Given the description of an element on the screen output the (x, y) to click on. 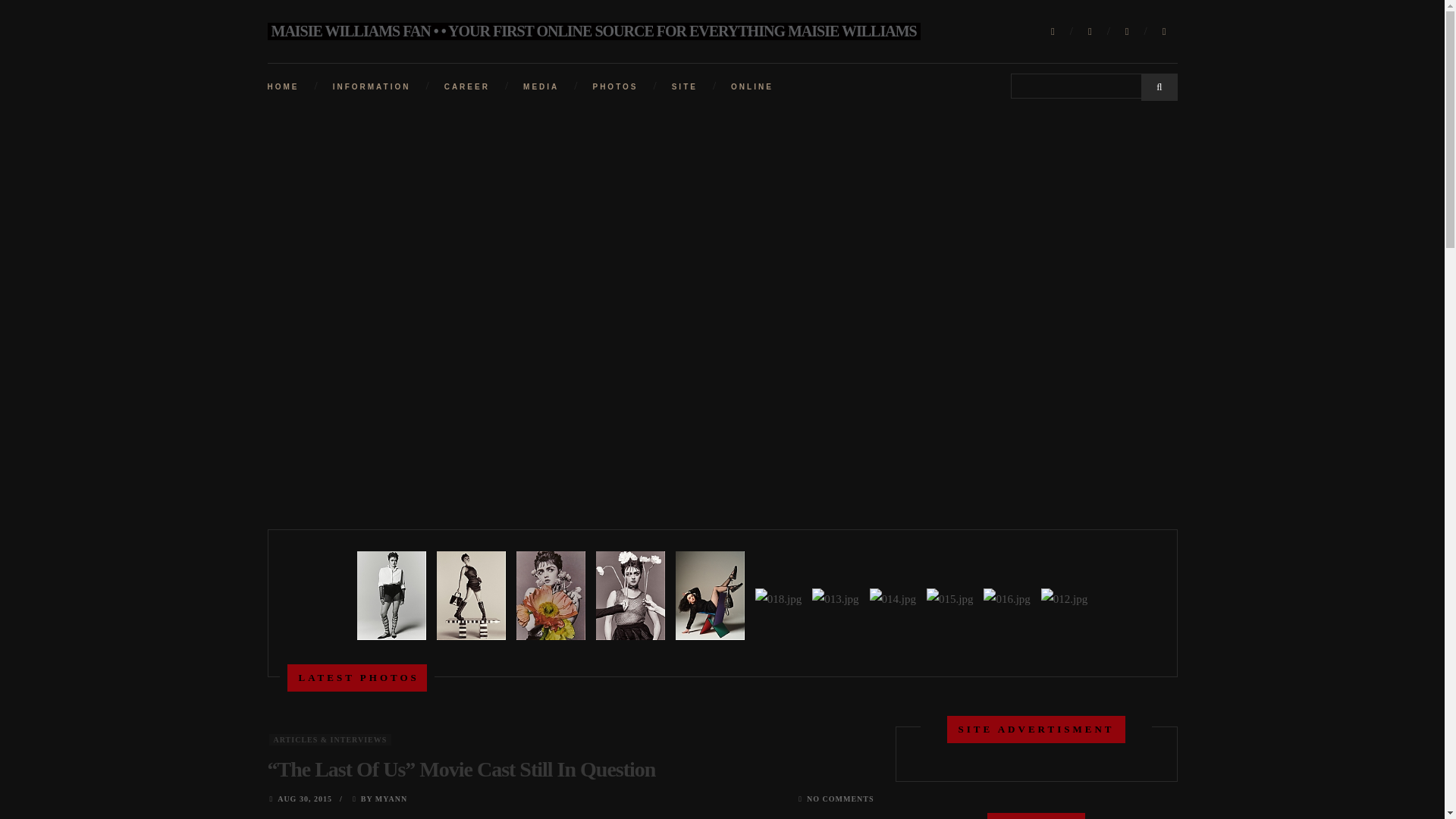
CAREER (466, 86)
015.jpg (949, 599)
INFORMATION (371, 86)
PHOTOS (614, 86)
013.jpg (834, 599)
ONLINE (751, 86)
016.jpg (1006, 599)
012.jpg (1061, 599)
018.jpg (778, 599)
HOME (282, 86)
SITE (684, 86)
014.jpg (893, 599)
NO COMMENTS (840, 798)
MEDIA (540, 86)
